Given the description of an element on the screen output the (x, y) to click on. 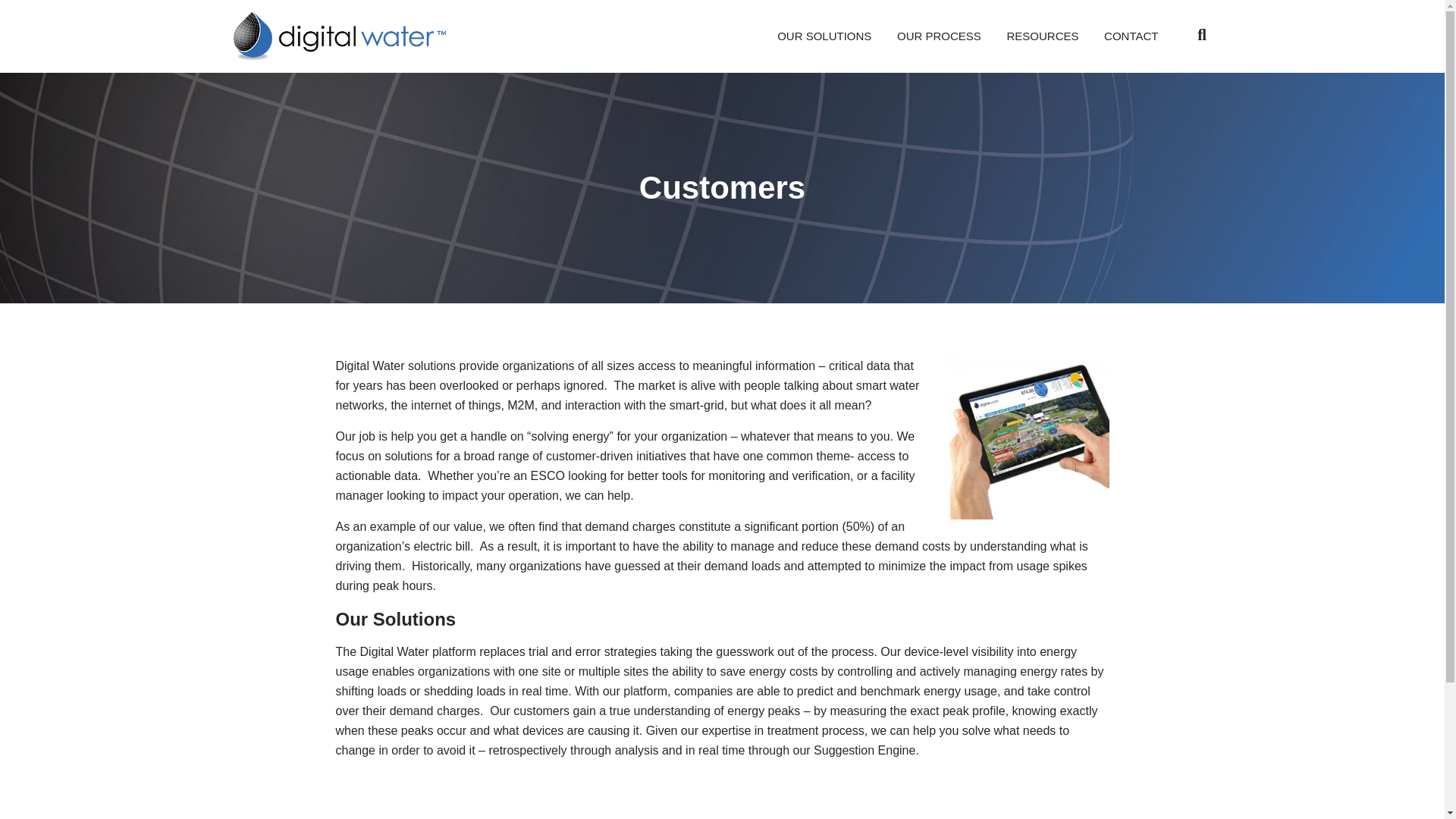
OUR PROCESS (938, 36)
OUR SOLUTIONS (829, 36)
RESOURCES (1041, 36)
CONTACT (1125, 36)
